Given the description of an element on the screen output the (x, y) to click on. 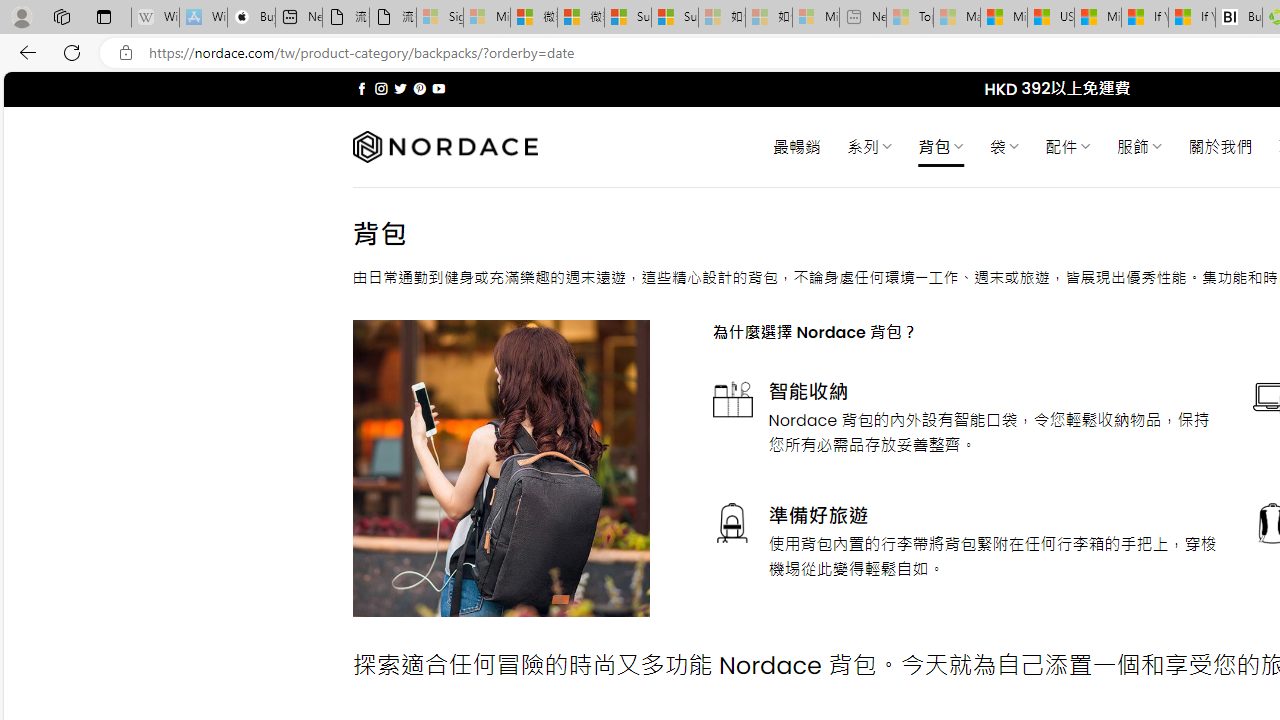
Top Stories - MSN - Sleeping (910, 17)
Sign in to your Microsoft account - Sleeping (440, 17)
Microsoft Services Agreement - Sleeping (486, 17)
Follow on Instagram (381, 88)
Nordace (444, 147)
Nordace (444, 147)
Follow on Pinterest (419, 88)
